Given the description of an element on the screen output the (x, y) to click on. 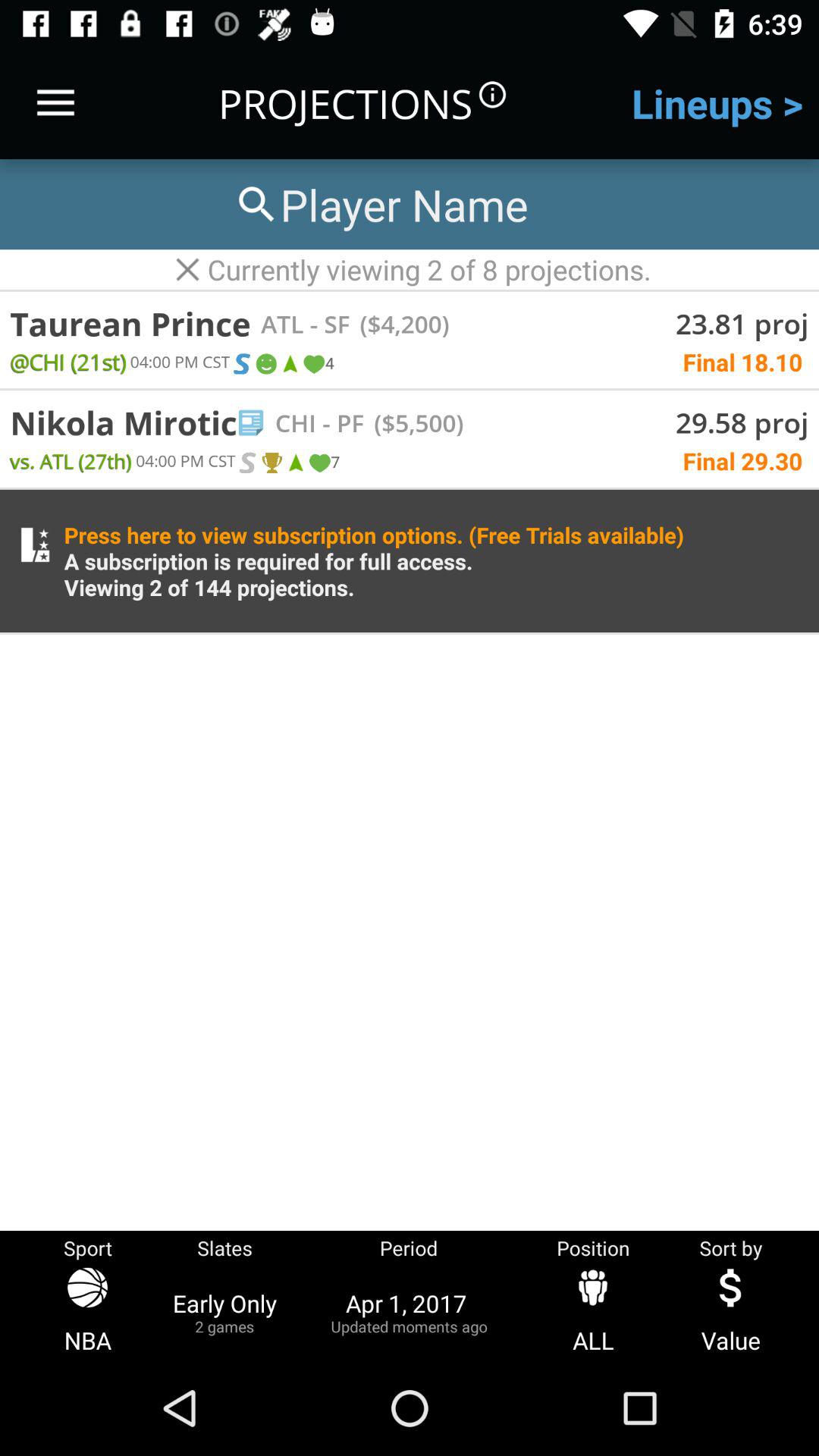
click on the  first option after the text 21st0400 pm cst (241, 363)
select the logo at bottom left (35, 544)
click on the search bar (380, 203)
click on emoji in first row (265, 363)
